Given the description of an element on the screen output the (x, y) to click on. 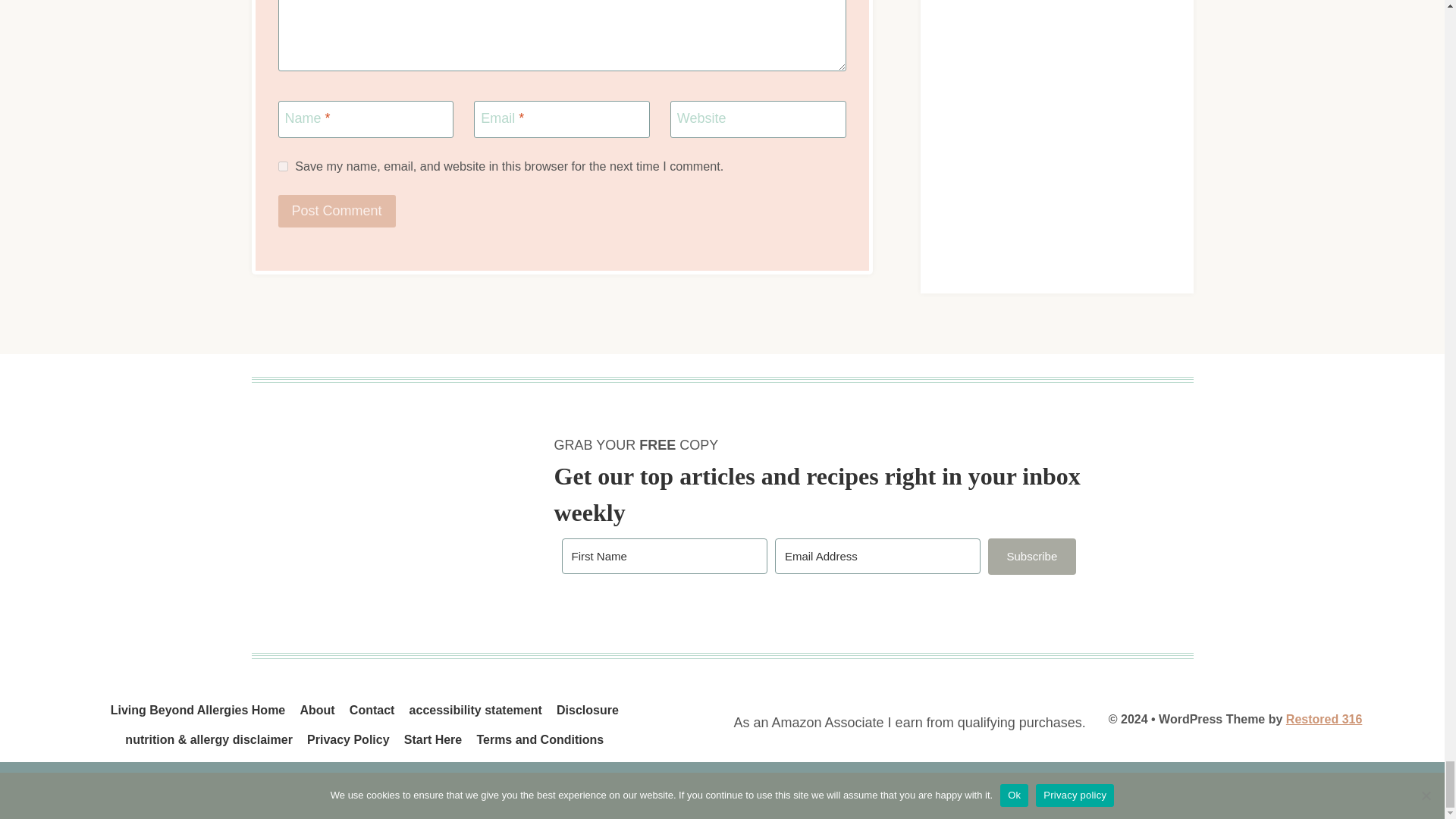
yes (282, 166)
Post Comment (336, 210)
